Given the description of an element on the screen output the (x, y) to click on. 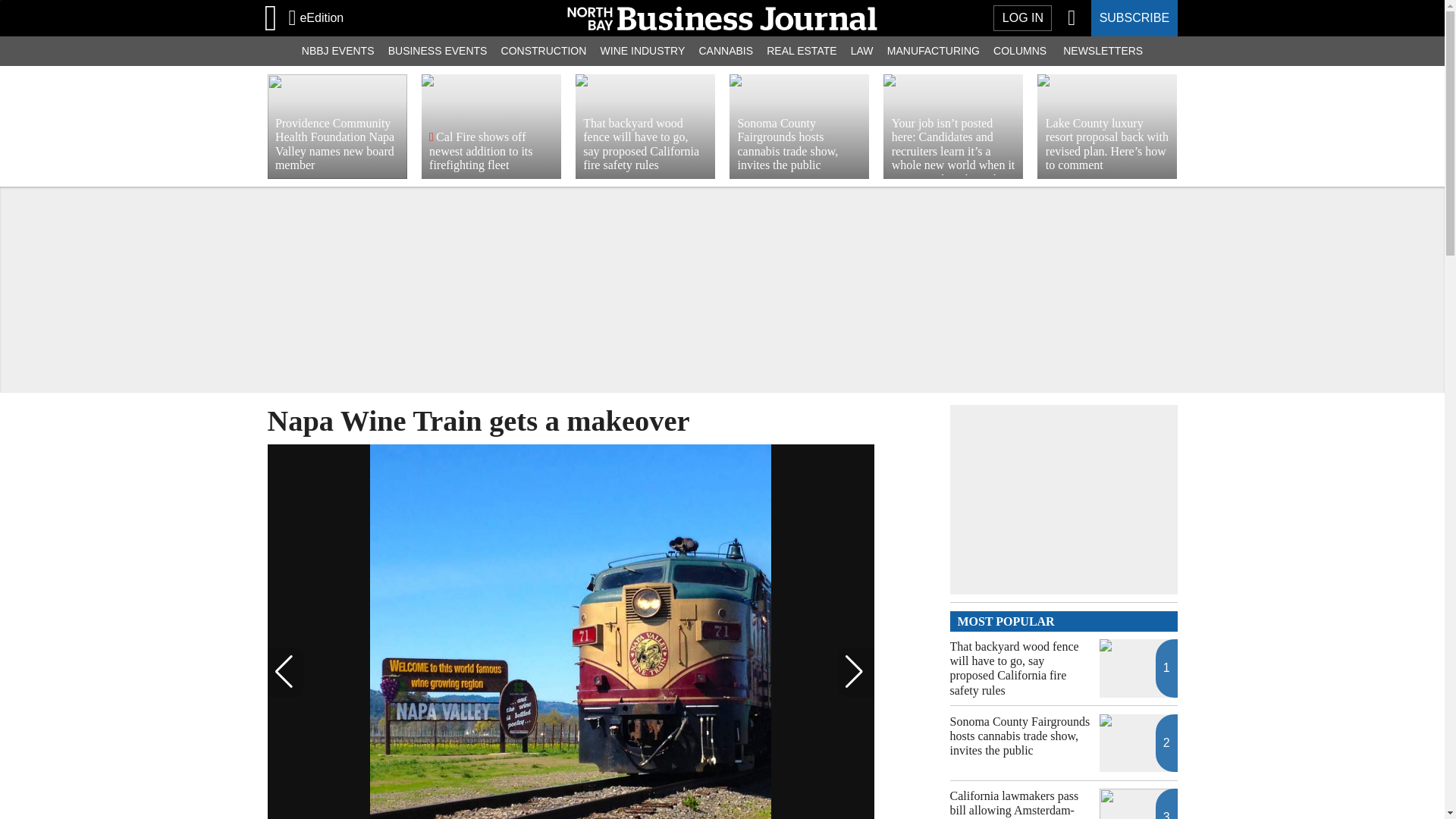
3rd party ad content (1062, 499)
WINE INDUSTRY (641, 51)
SUBSCRIBE (1133, 18)
LOG IN (1021, 17)
Cal Fire shows off newest addition to its firefighting fleet (480, 150)
LAW (862, 51)
NBBJ EVENTS (338, 51)
BUSINESS EVENTS (438, 51)
